Given the description of an element on the screen output the (x, y) to click on. 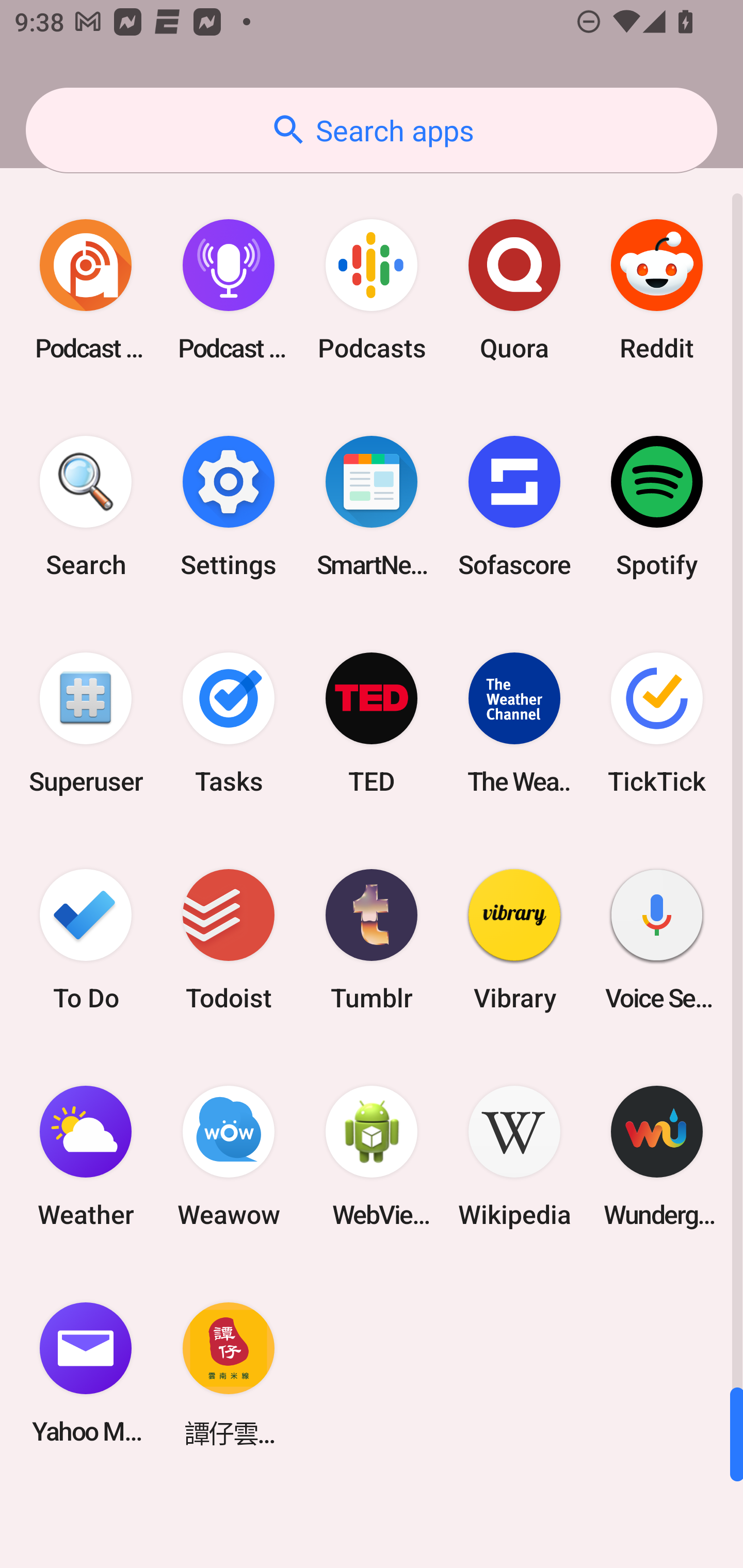
  Search apps (371, 130)
Podcast Addict (85, 289)
Podcast Player (228, 289)
Podcasts (371, 289)
Quora (514, 289)
Reddit (656, 289)
Search (85, 506)
Settings (228, 506)
SmartNews (371, 506)
Sofascore (514, 506)
Spotify (656, 506)
Superuser (85, 722)
Tasks (228, 722)
TED (371, 722)
The Weather Channel (514, 722)
TickTick (656, 722)
To Do (85, 939)
Todoist (228, 939)
Tumblr (371, 939)
Vibrary (514, 939)
Voice Search (656, 939)
Weather (85, 1156)
Weawow (228, 1156)
WebView Browser Tester (371, 1156)
Wikipedia (514, 1156)
Wunderground (656, 1156)
Yahoo Mail (85, 1373)
譚仔雲南米線 (228, 1373)
